Given the description of an element on the screen output the (x, y) to click on. 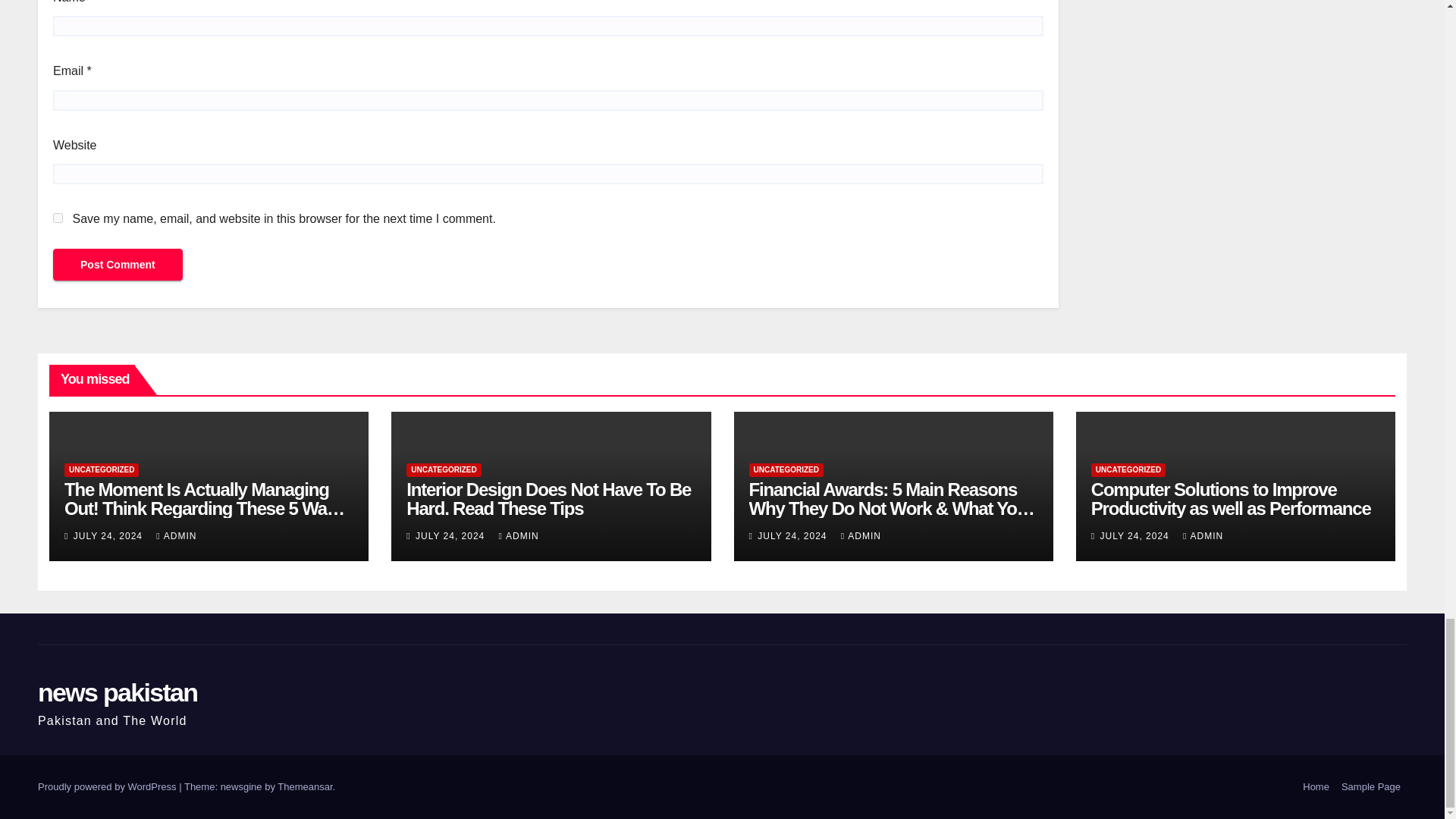
Post Comment (117, 264)
yes (57, 217)
Home (1316, 786)
Post Comment (117, 264)
